Given the description of an element on the screen output the (x, y) to click on. 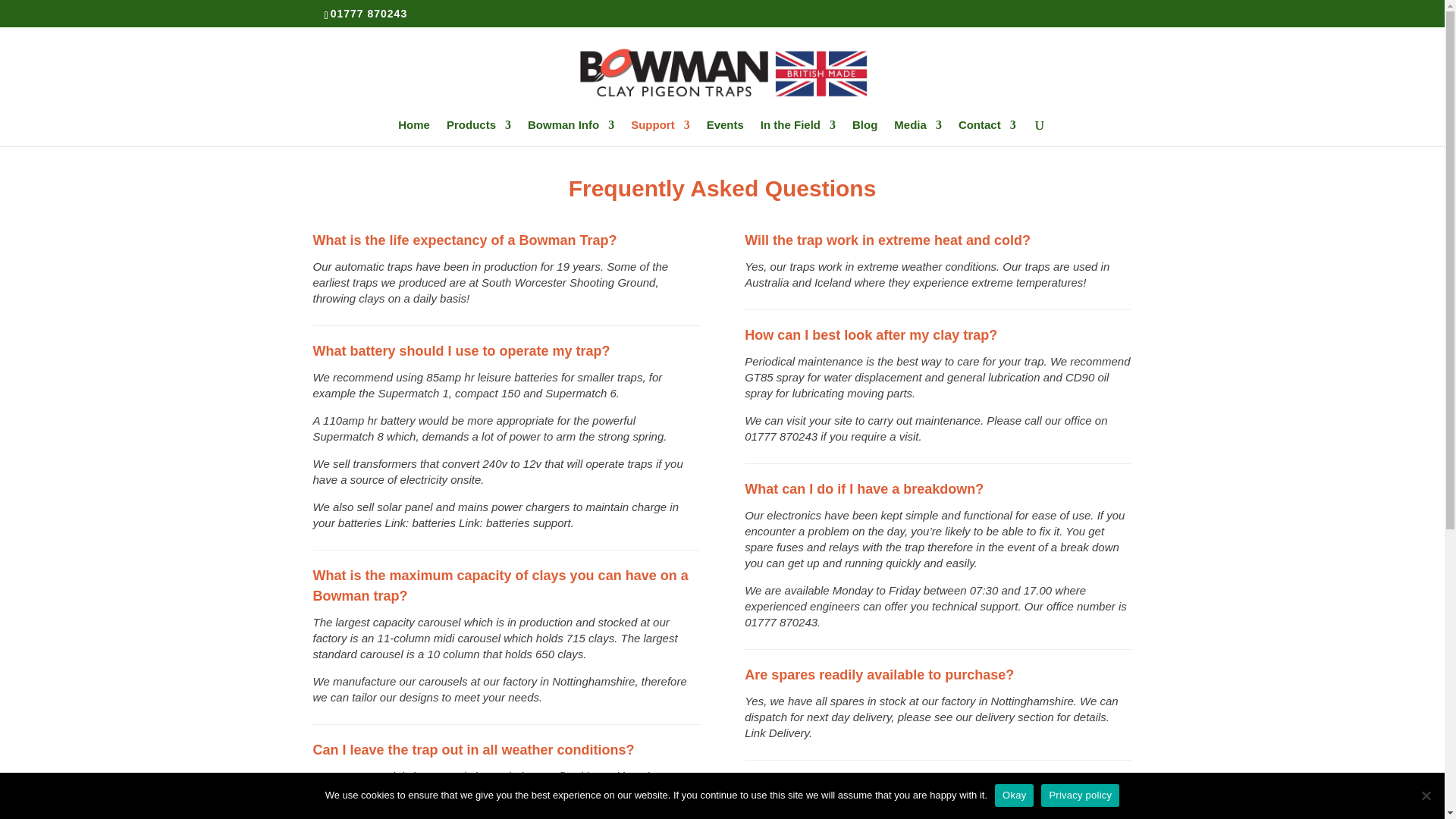
Events (725, 132)
Products (478, 132)
Support (660, 132)
No (1425, 795)
Home (413, 132)
Bowman Info (570, 132)
In the Field (797, 132)
